Given the description of an element on the screen output the (x, y) to click on. 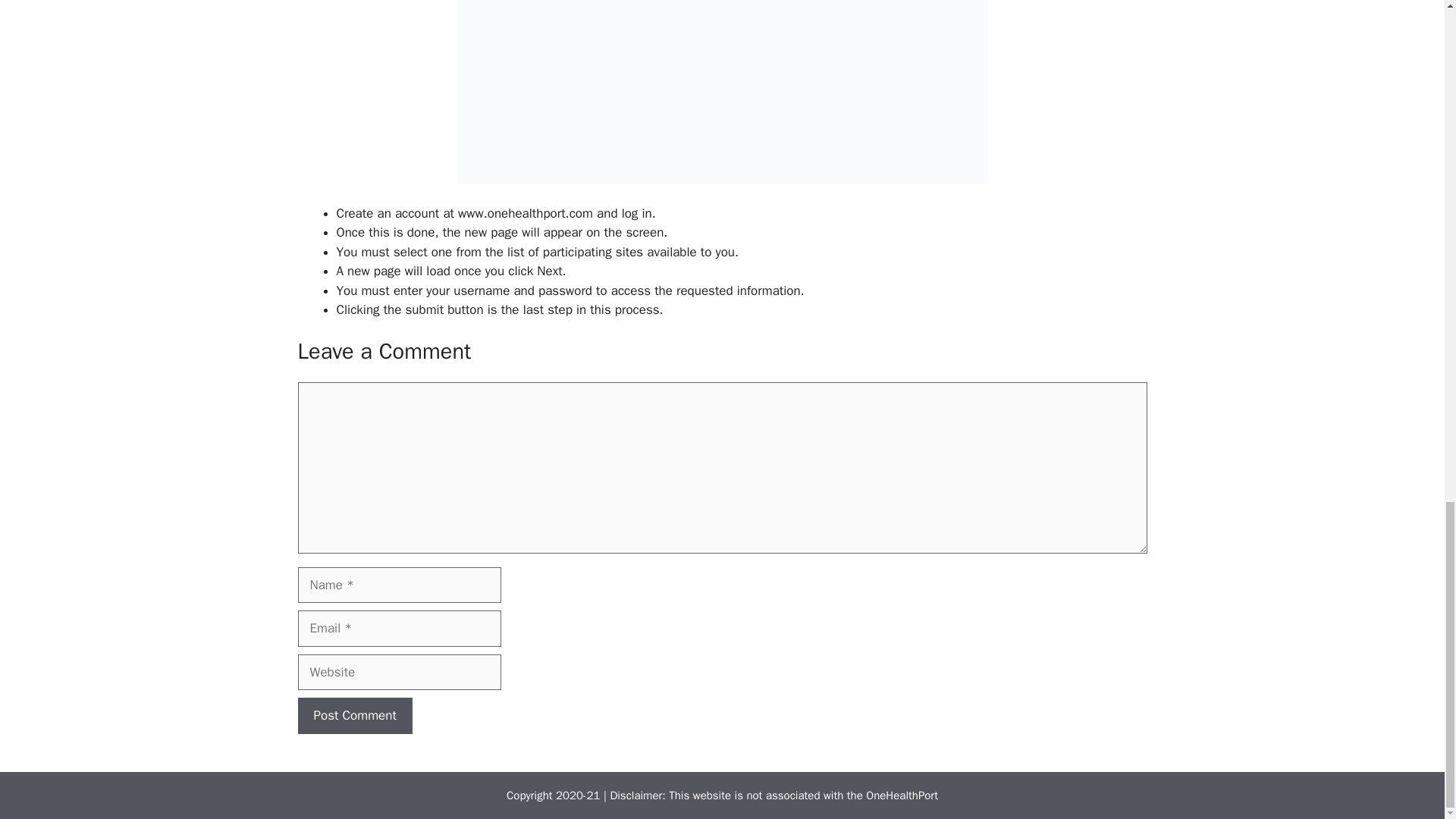
OneHealthPort (901, 795)
Post Comment (354, 715)
Post Comment (354, 715)
